Given the description of an element on the screen output the (x, y) to click on. 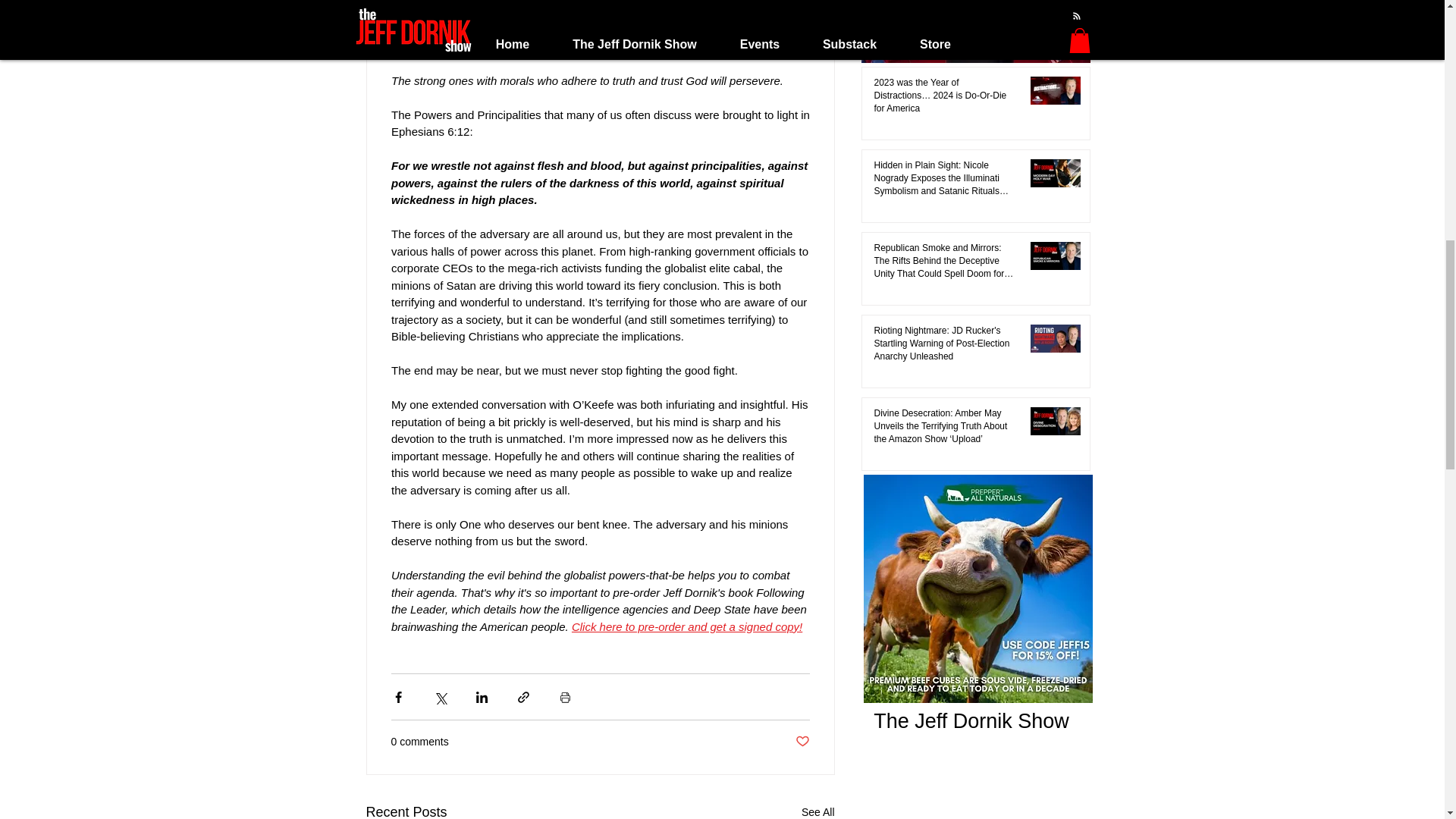
See All (818, 810)
Post not marked as liked (801, 741)
Click here to pre-order and get a signed copy! (686, 626)
